Given the description of an element on the screen output the (x, y) to click on. 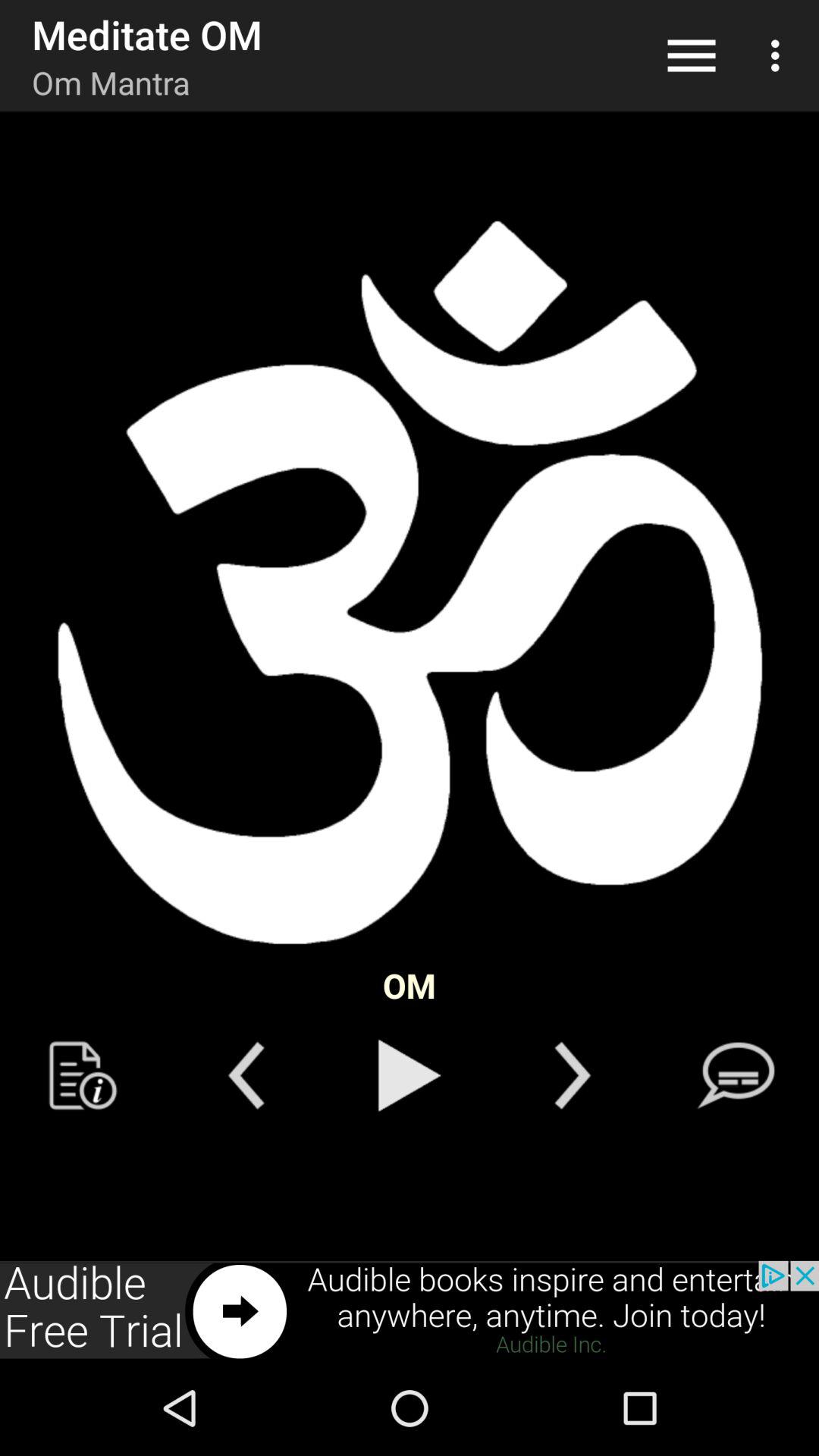
go to next (409, 1310)
